Given the description of an element on the screen output the (x, y) to click on. 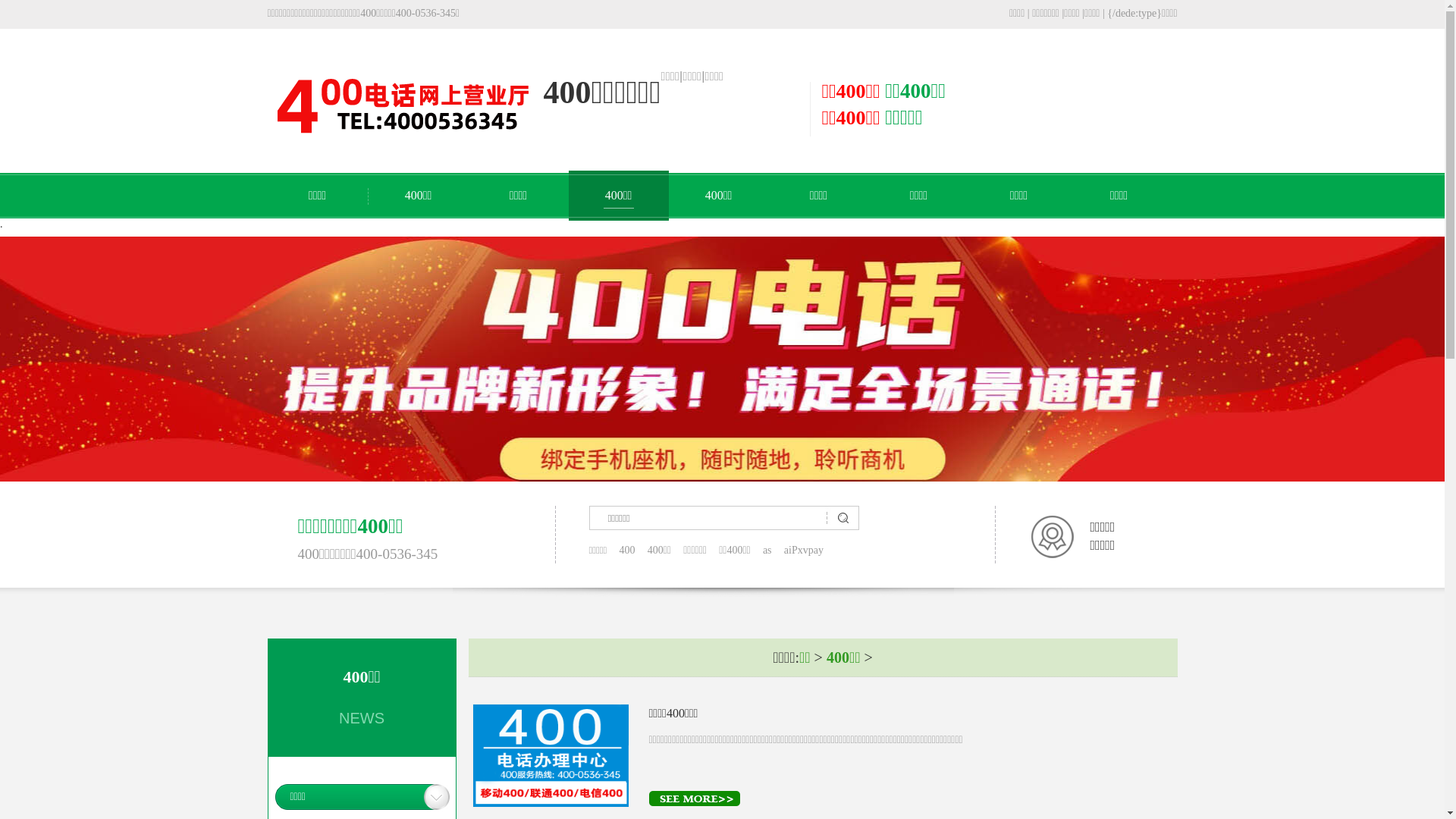
400 Element type: text (626, 549)
as Element type: text (766, 549)
aiPxvpay Element type: text (803, 549)
